Given the description of an element on the screen output the (x, y) to click on. 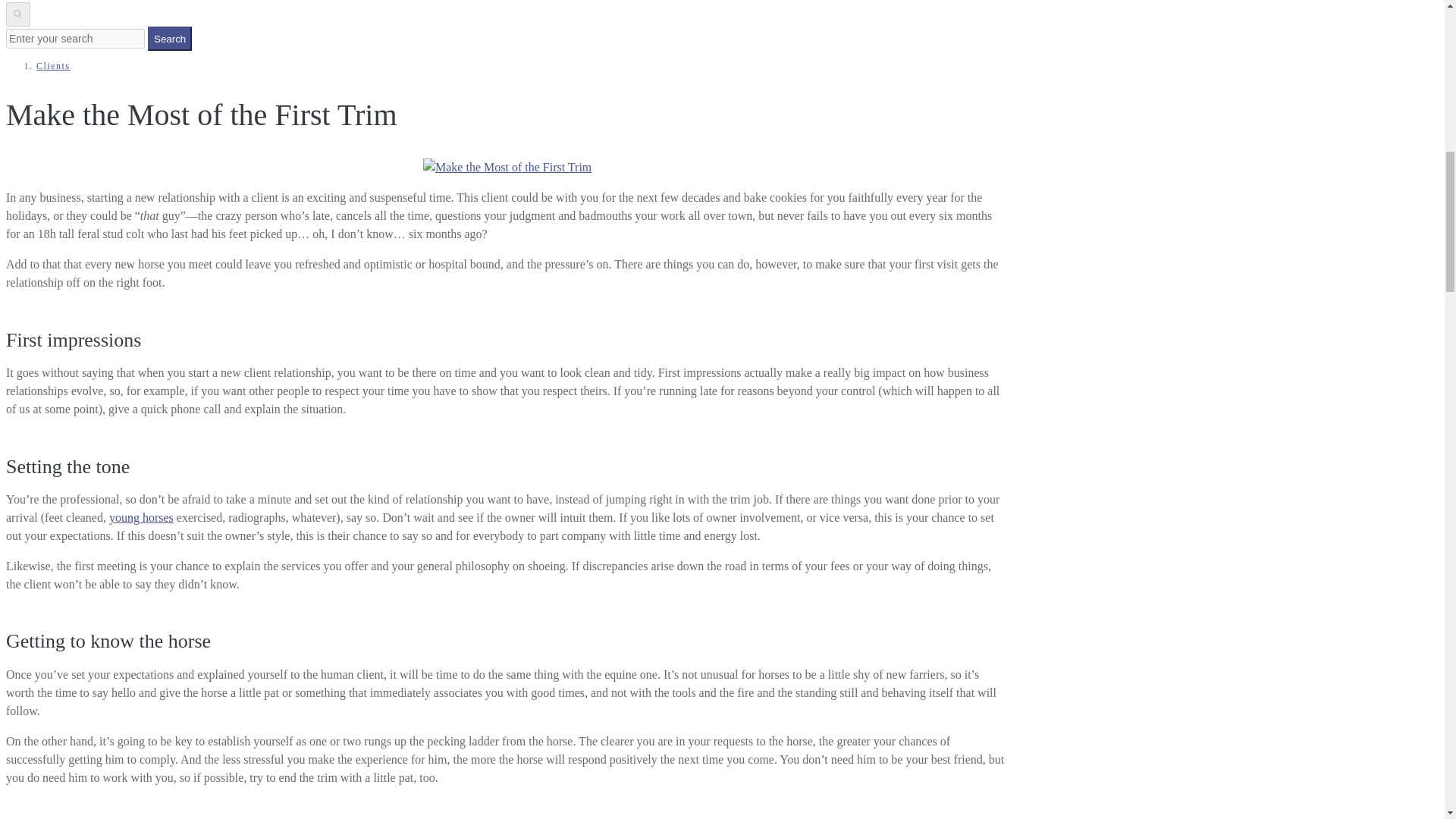
Clients (52, 65)
Search (170, 38)
Clients (52, 65)
young horses (141, 517)
